Given the description of an element on the screen output the (x, y) to click on. 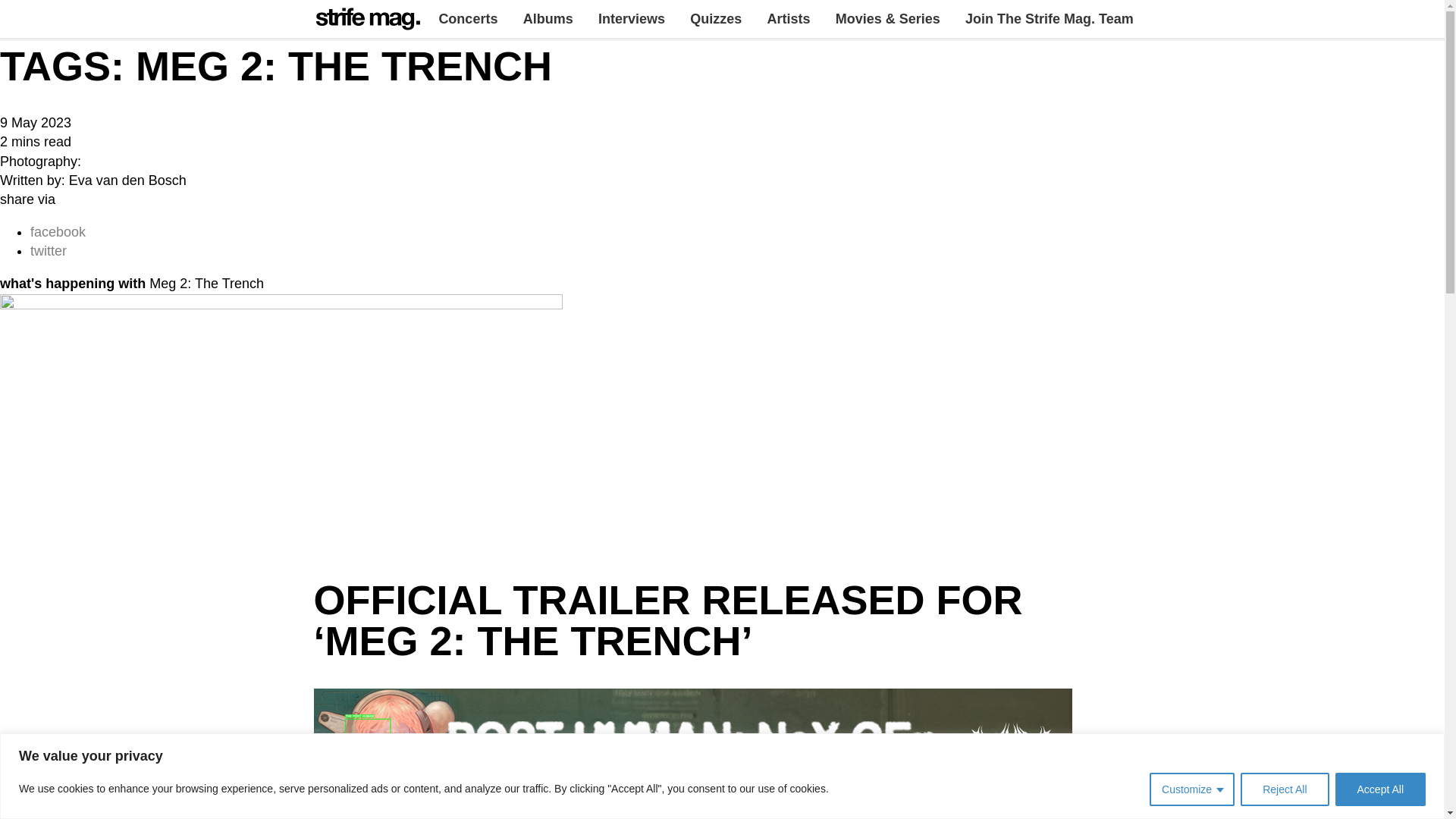
Concerts (466, 18)
Reject All (1283, 788)
Interviews (631, 18)
Strife (367, 18)
Strife Mag (351, 37)
Accept All (1380, 788)
Tweet (48, 250)
Customize (1192, 788)
Share on Facebook (57, 231)
Albums (547, 18)
